Given the description of an element on the screen output the (x, y) to click on. 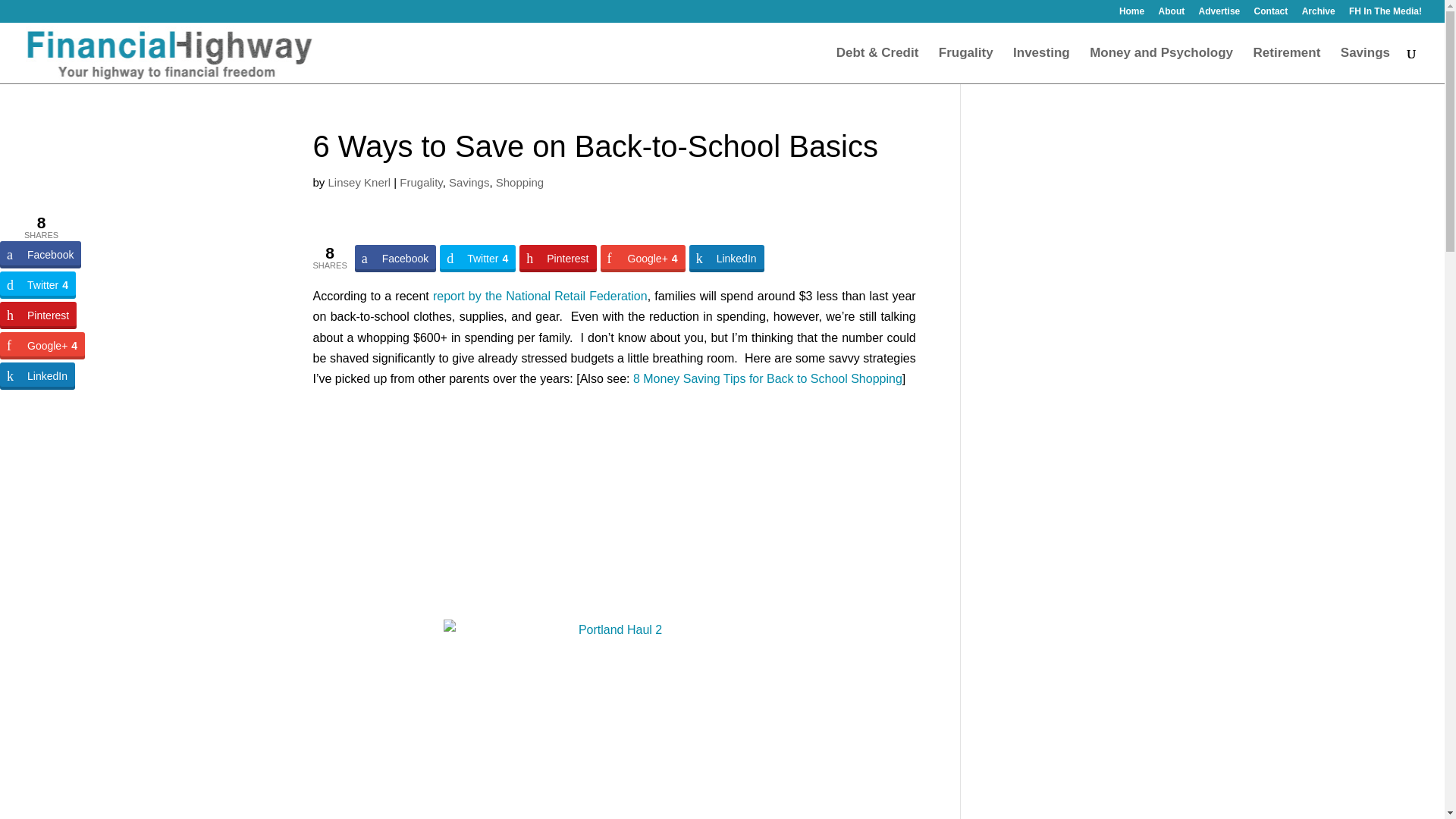
Savings (1365, 65)
Frugality (420, 182)
Advertise (1219, 14)
Savings (468, 182)
Linsey Knerl (360, 182)
Money and Psychology (1161, 65)
Posts by Linsey Knerl (360, 182)
Frugality (965, 65)
Pinterest (557, 257)
